Given the description of an element on the screen output the (x, y) to click on. 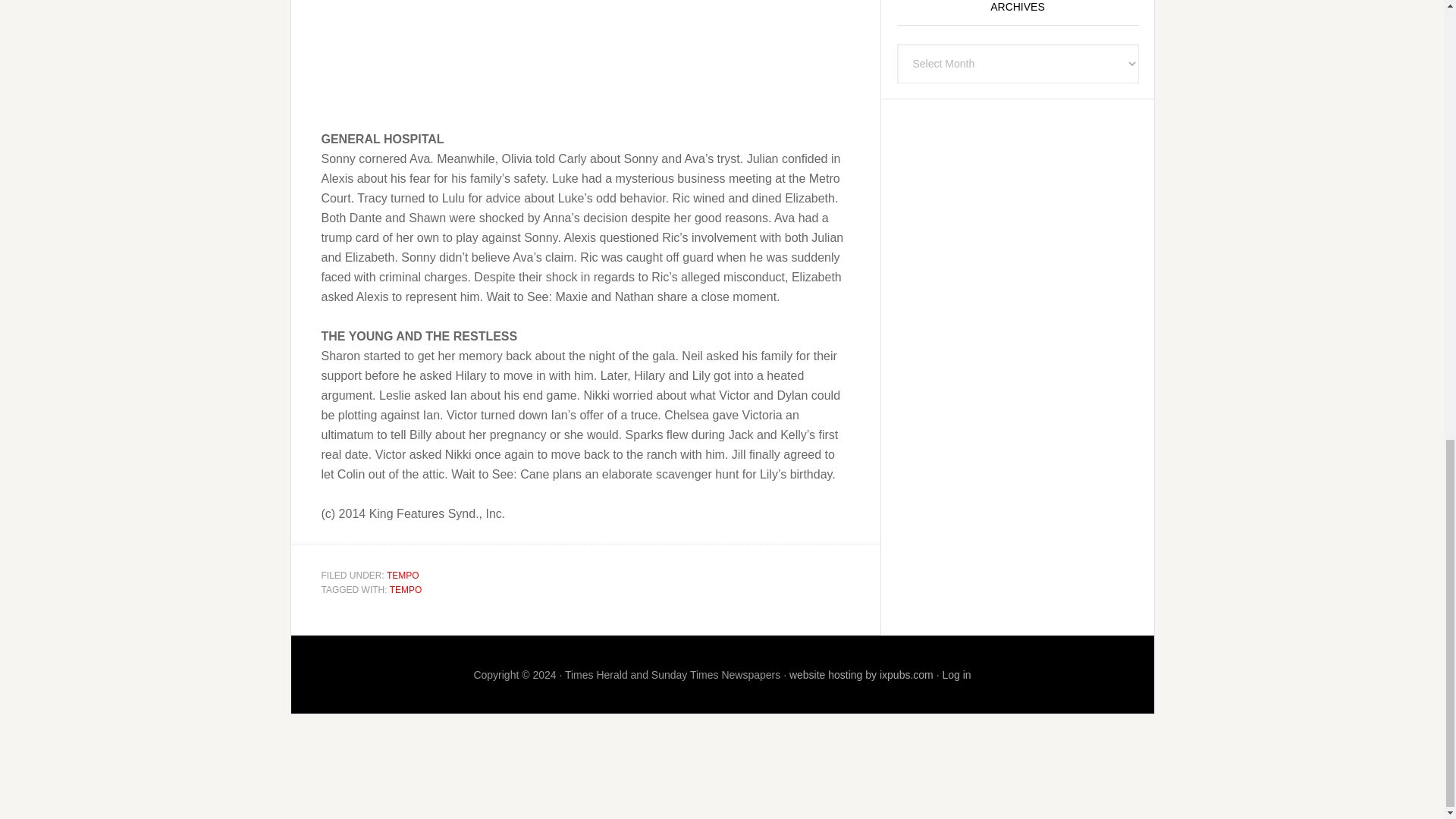
Advertisement (1016, 144)
Advertisement (721, 790)
Advertisement (585, 64)
